Given the description of an element on the screen output the (x, y) to click on. 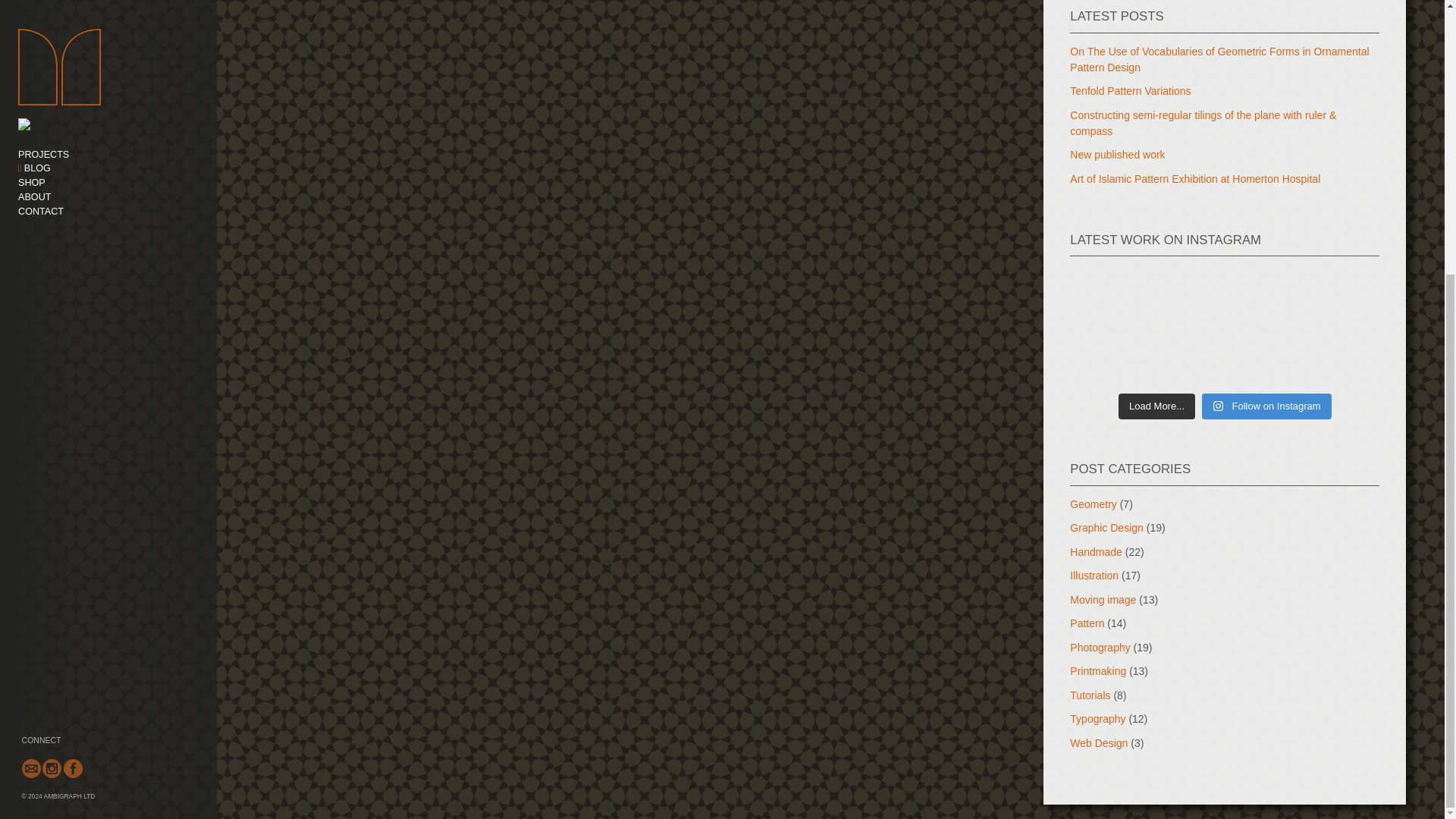
Art of Islamic Pattern Exhibition at Homerton Hospital (1195, 178)
Pattern (1086, 623)
Typography (1097, 718)
Handmade (1096, 551)
Moving image (1102, 599)
Tutorials (1089, 695)
Illustration (1094, 575)
Load More... (1156, 406)
Photography (1099, 647)
Printmaking (1097, 671)
Web Design (1098, 743)
Follow on Instagram (1267, 406)
Tenfold Pattern Variations (1130, 91)
Graphic Design (1106, 527)
